Given the description of an element on the screen output the (x, y) to click on. 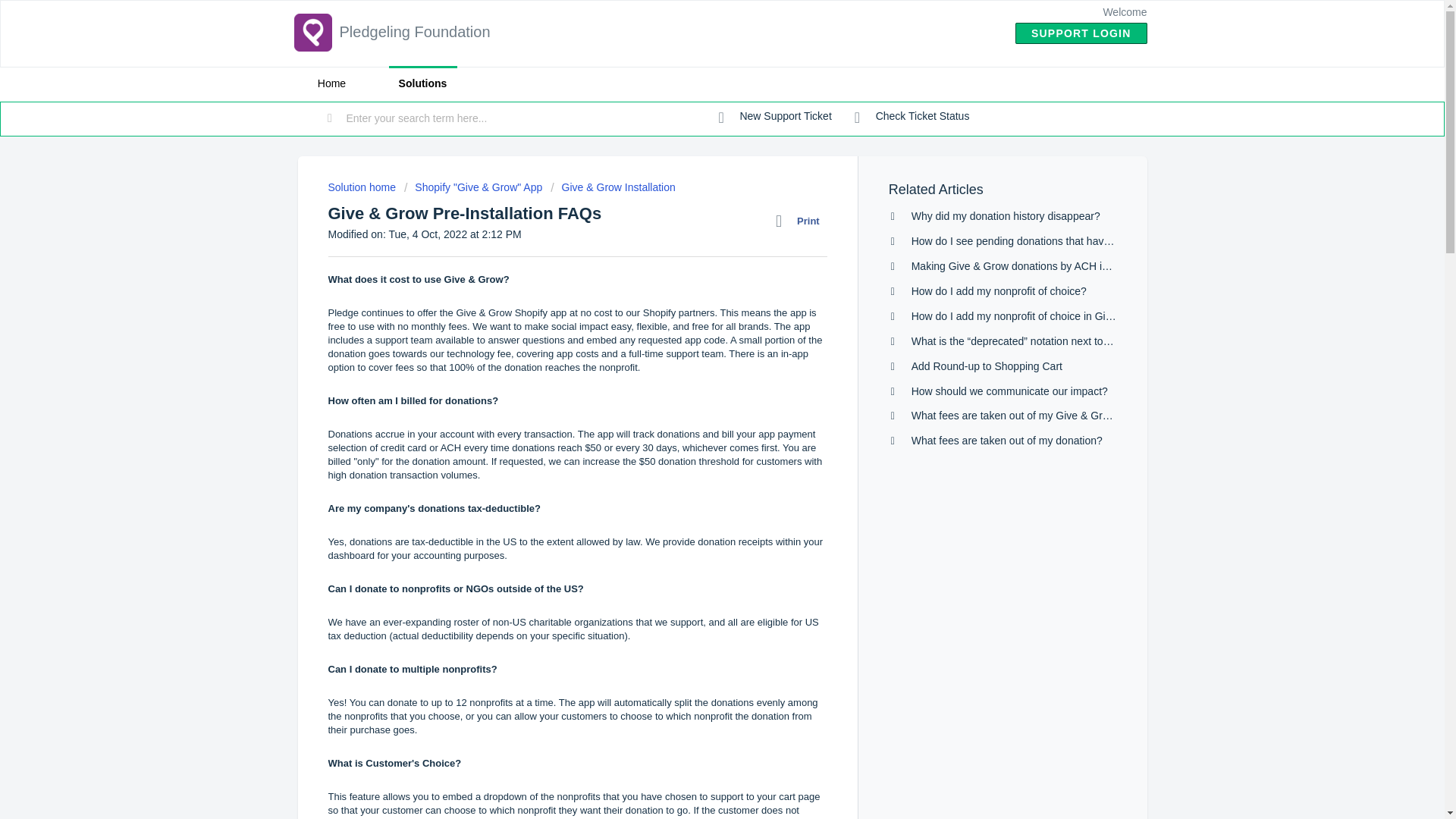
Print this Article (801, 220)
How do I add my nonprofit of choice? (998, 291)
Solution home (362, 186)
What fees are taken out of my donation? (1006, 440)
SUPPORT LOGIN (1080, 33)
How should we communicate our impact? (1009, 390)
Check Ticket Status (911, 116)
Print (801, 220)
Solutions (422, 83)
New Support Ticket (775, 116)
Add Round-up to Shopping Cart (986, 366)
Why did my donation history disappear? (1005, 215)
New support ticket (775, 116)
Check ticket status (911, 116)
